Given the description of an element on the screen output the (x, y) to click on. 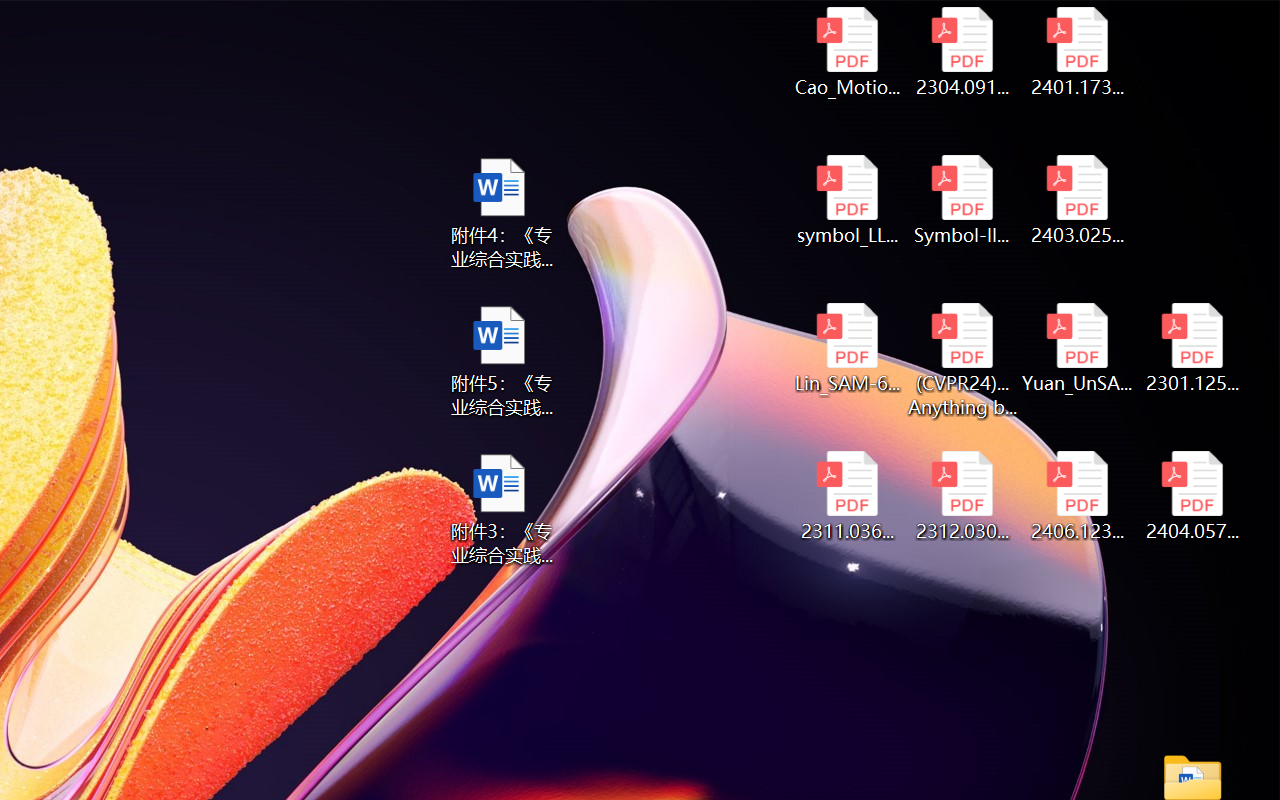
2301.12597v3.pdf (1192, 348)
